Given the description of an element on the screen output the (x, y) to click on. 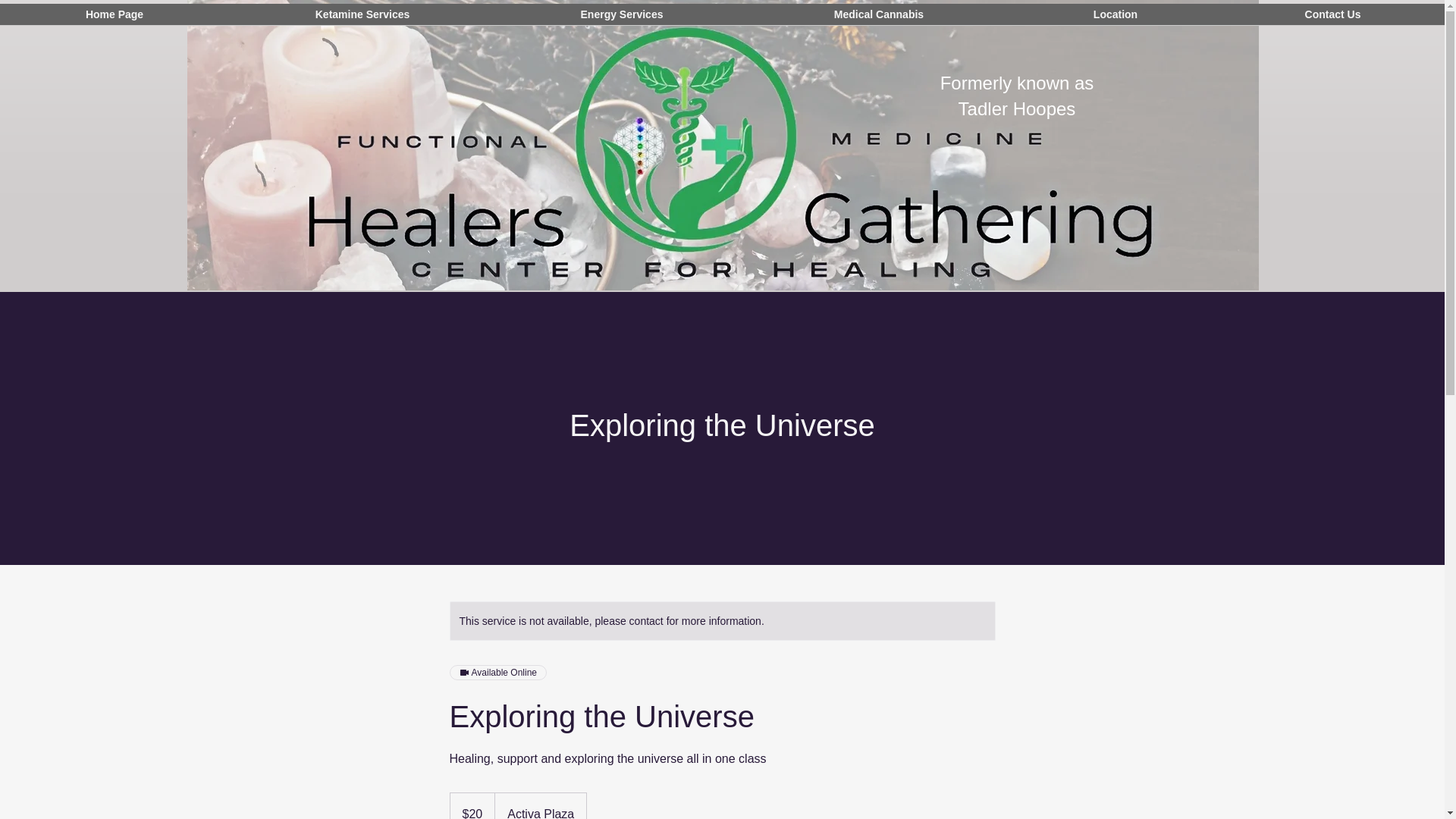
Medical Cannabis (879, 19)
Location (1115, 19)
Energy Services (622, 19)
Home Page (114, 19)
Ketamine Services (362, 19)
